Given the description of an element on the screen output the (x, y) to click on. 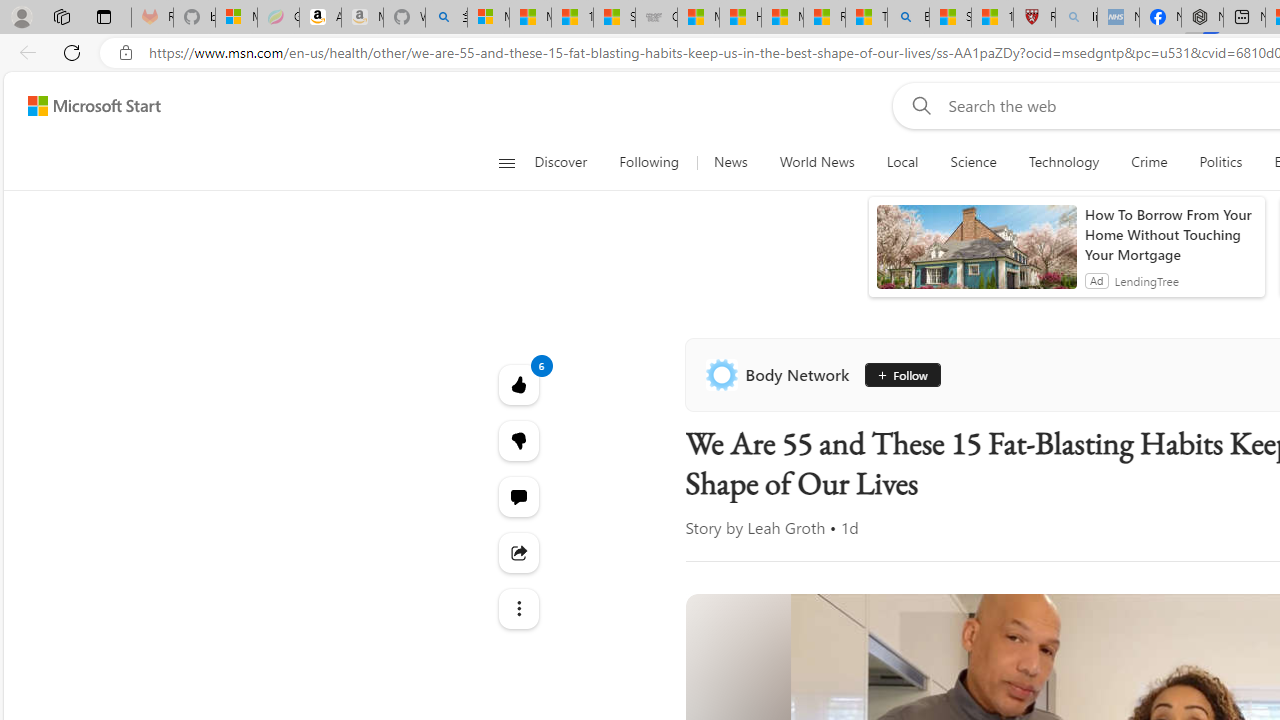
Class: at-item (517, 609)
